Given the description of an element on the screen output the (x, y) to click on. 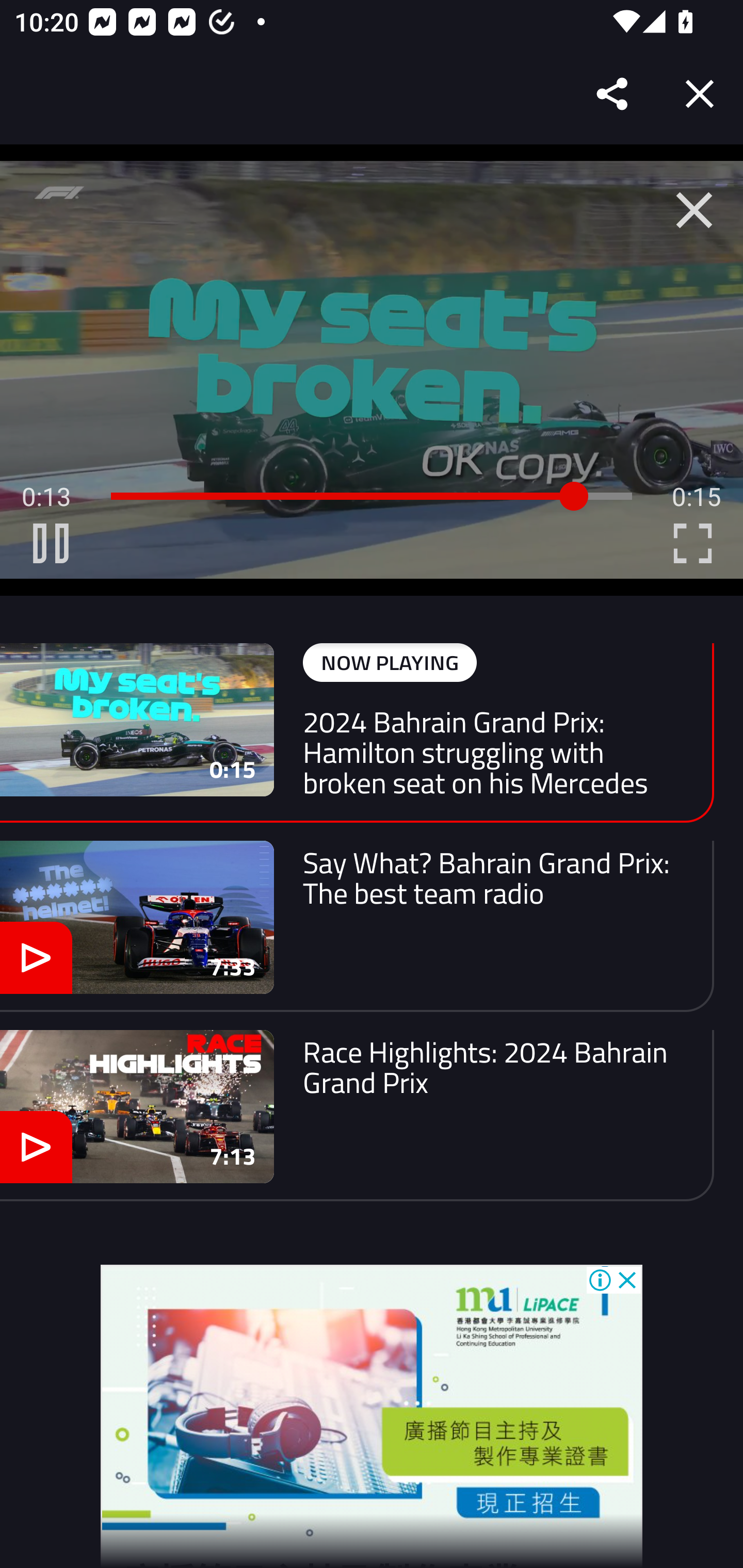
Share (612, 93)
Close (699, 93)
 Close (693, 210)
B Pause (50, 543)
C Enter Fullscreen (692, 543)
7:13 Race Highlights: 2024 Bahrain Grand Prix (357, 1115)
%3Flce%3DGDN_B2023_01 (371, 1410)
